Given the description of an element on the screen output the (x, y) to click on. 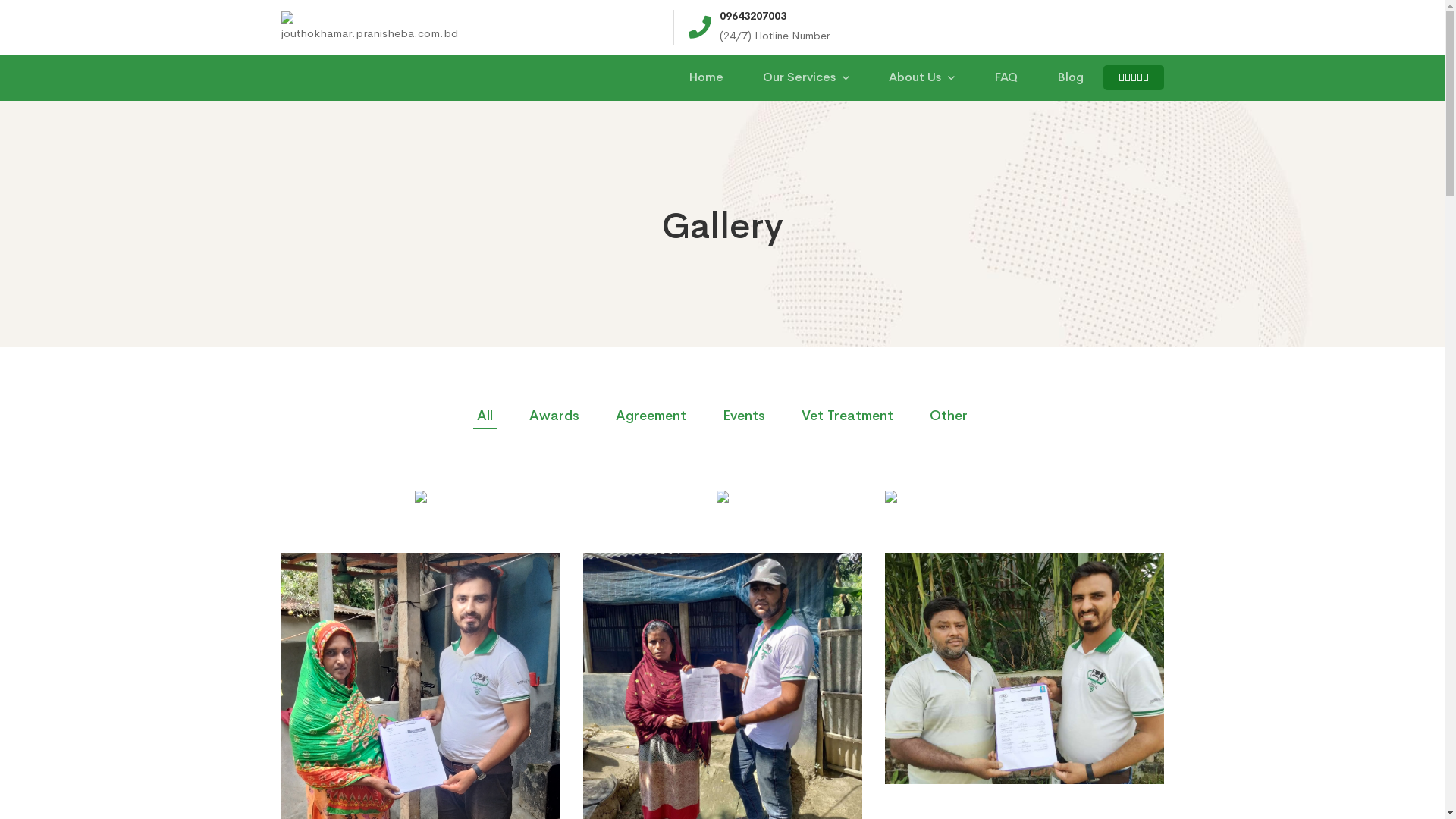
Our Services Element type: text (805, 77)
praniSheba Vet Element type: text (827, 666)
All Rights Reserved. Element type: text (454, 771)
Blog Element type: text (1070, 77)
Agreement Element type: text (650, 416)
Awards Element type: text (554, 416)
Gallery Element type: text (688, 666)
09643207003 Element type: text (751, 15)
About Us Element type: text (921, 77)
09643207003 Element type: text (966, 639)
For Customers Element type: text (589, 666)
FAQ Element type: text (1004, 77)
Events Element type: text (743, 416)
Vet Treatment Element type: text (847, 416)
praniSheba Shop Element type: text (832, 639)
Other Element type: text (948, 416)
For Farmers Element type: text (582, 639)
Privacy Policy Element type: text (705, 611)
FAQ Element type: text (680, 639)
Home Element type: text (705, 77)
info@jouthokhamar.pranisheba.com.bd Element type: text (1031, 611)
praniSheba Element type: text (817, 611)
All Element type: text (484, 416)
For Investors Element type: text (585, 611)
